Given the description of an element on the screen output the (x, y) to click on. 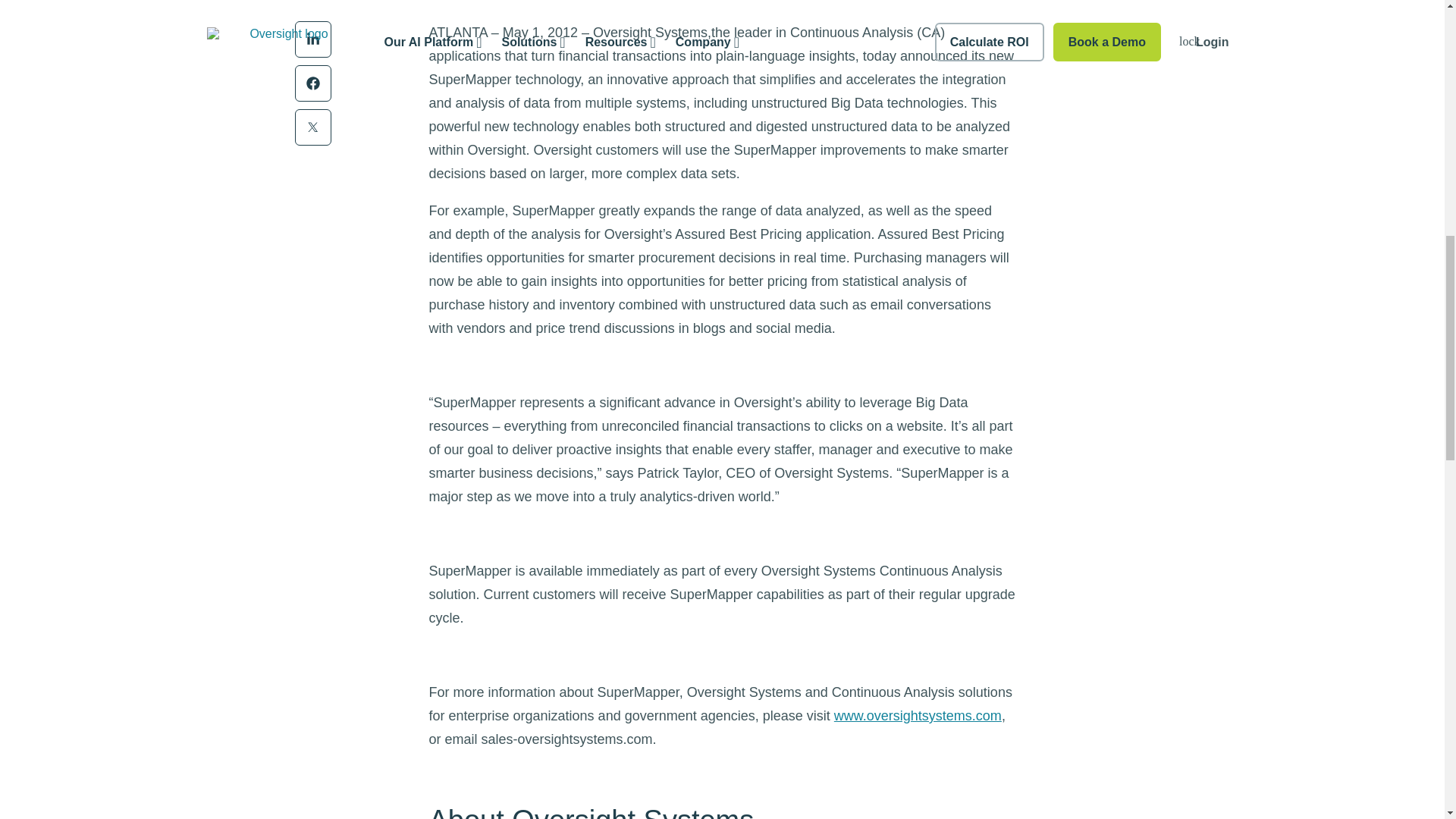
Tweet on Twitter (312, 126)
Share on LinkedIn (312, 39)
Share on Facebook (312, 83)
